Given the description of an element on the screen output the (x, y) to click on. 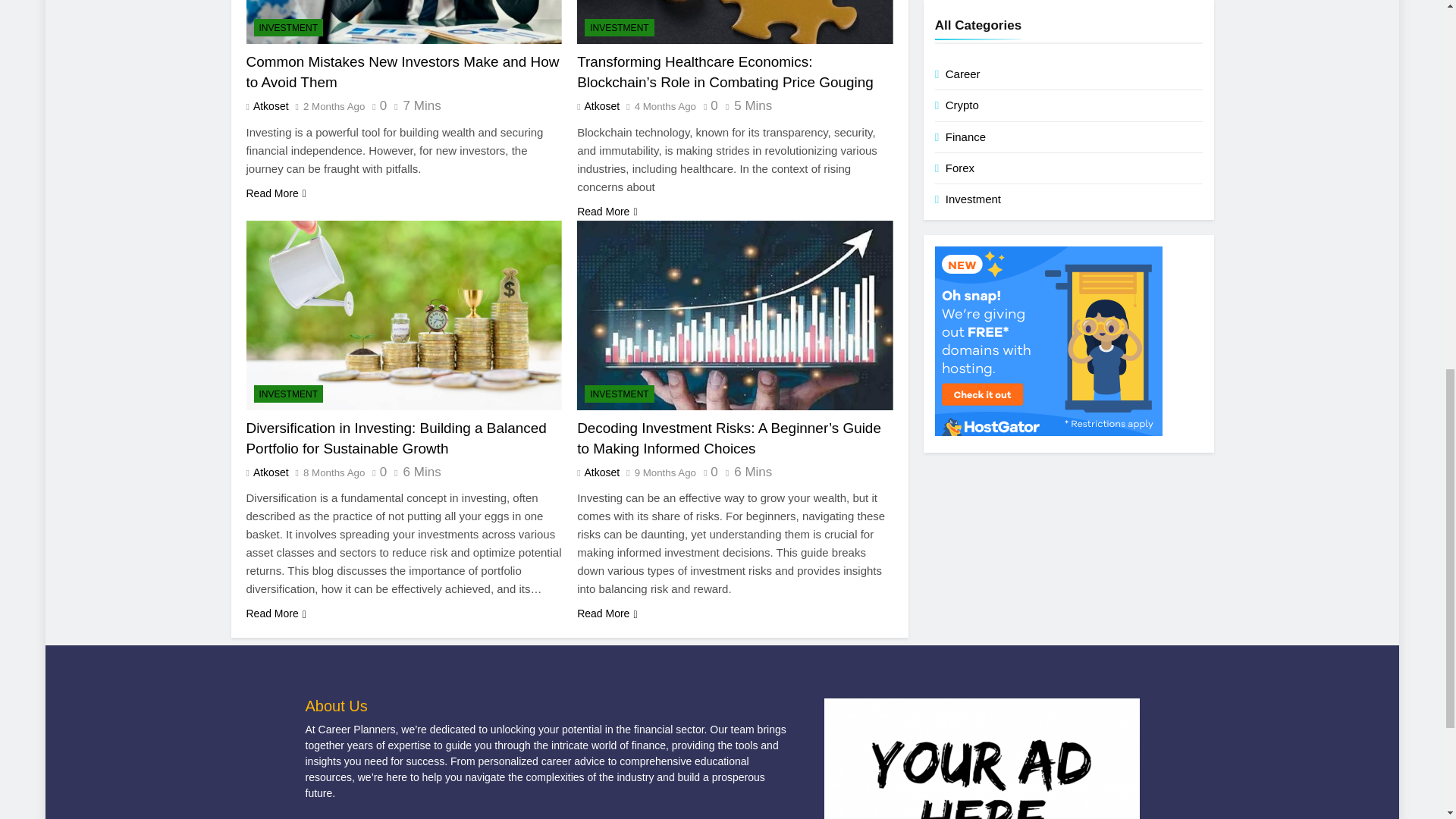
Common Mistakes New Investors Make and How to Avoid Them (404, 22)
Common Mistakes New Investors Make and How to Avoid Them (402, 72)
Atkoset (270, 105)
Common Mistakes New Investors Make and How to Avoid Them (402, 72)
INVESTMENT (288, 27)
